Given the description of an element on the screen output the (x, y) to click on. 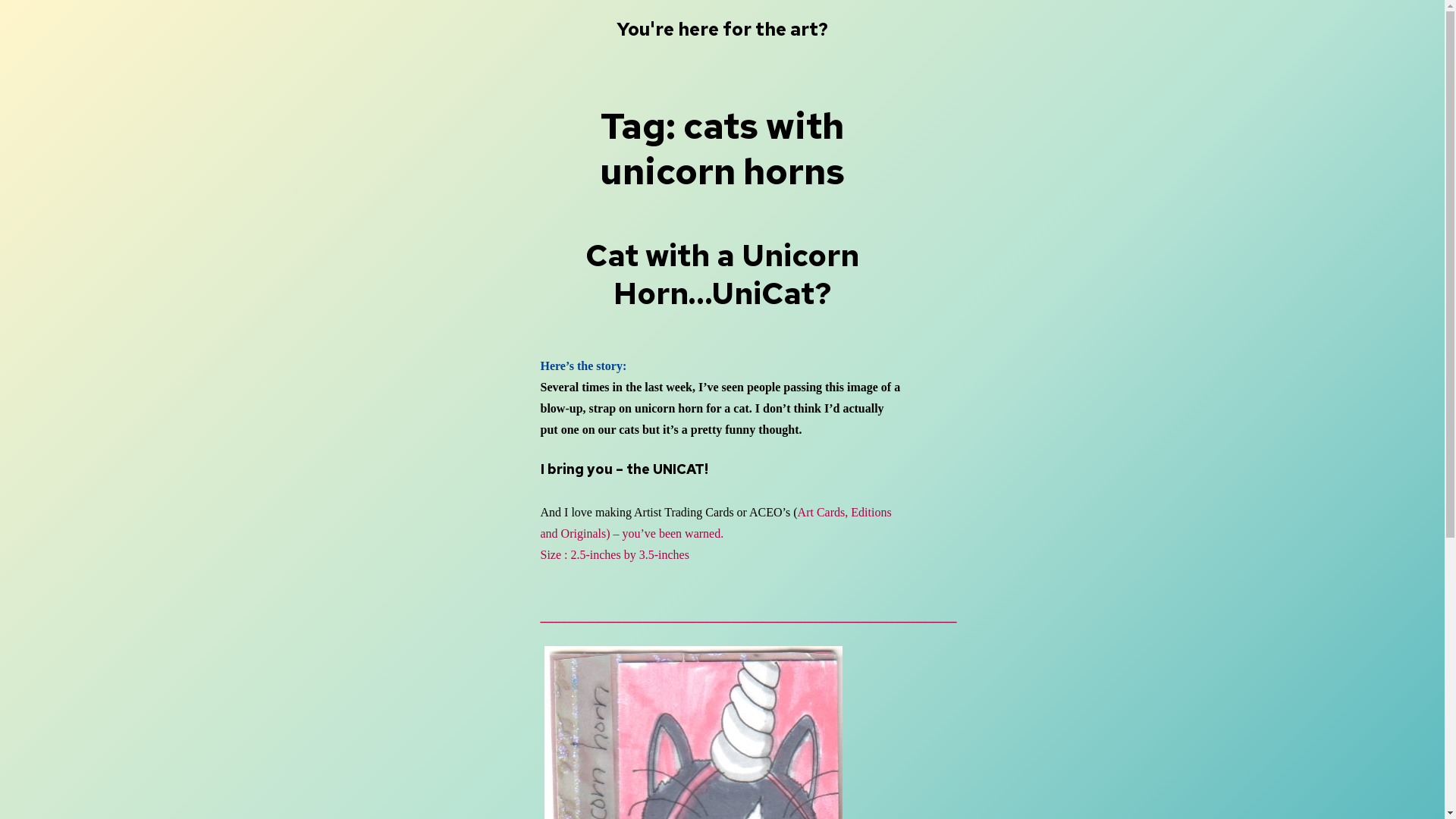
You're here for the art? Element type: text (722, 28)
